Given the description of an element on the screen output the (x, y) to click on. 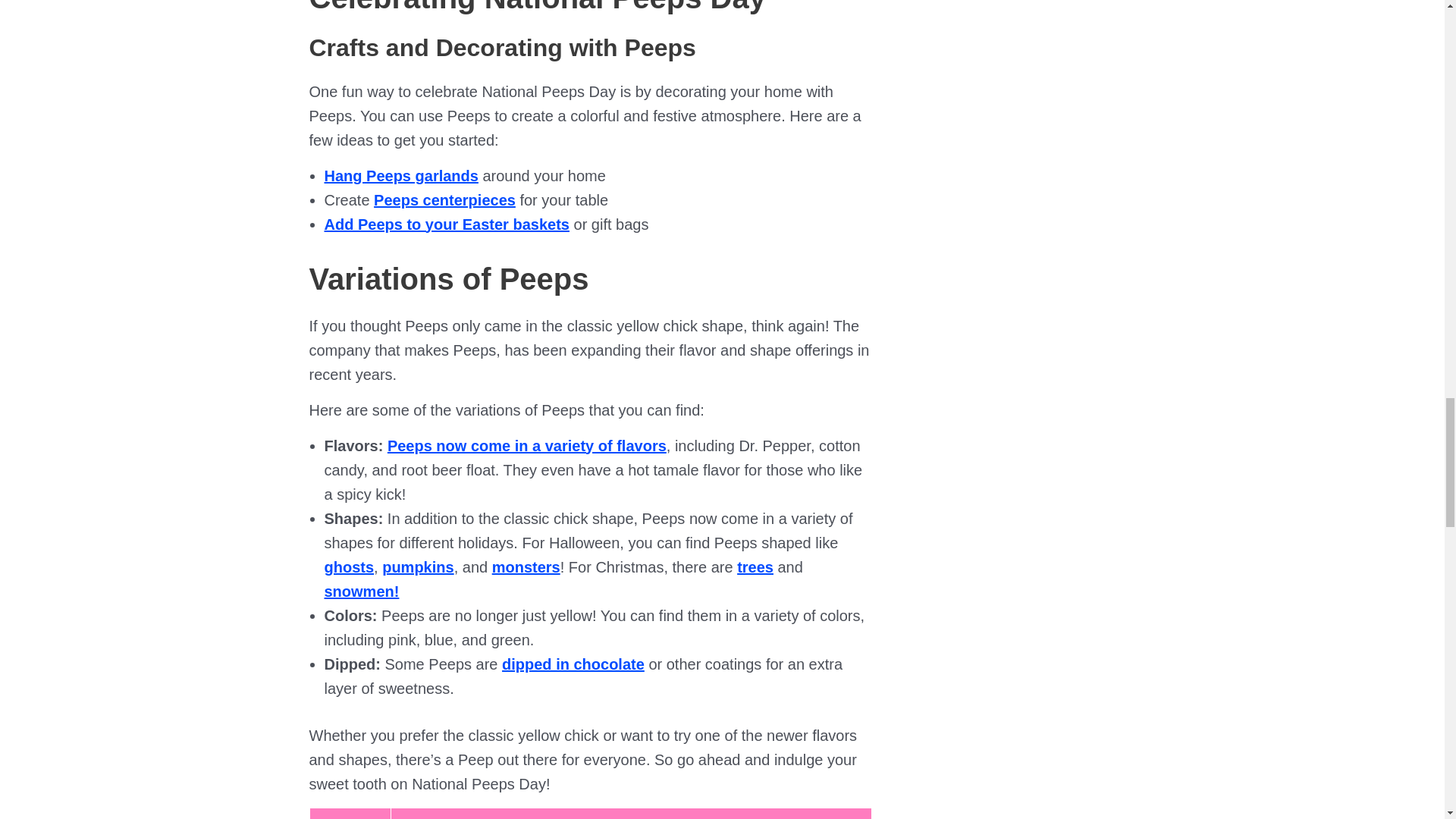
Add Peeps to your Easter baskets (446, 224)
dipped in chocolate (573, 664)
monsters (526, 566)
ghosts (349, 566)
snowmen! (361, 591)
Peeps centerpieces (444, 199)
pumpkins (416, 566)
Hang Peeps garlands (401, 175)
Peeps now come in a variety of flavors (526, 445)
trees (754, 566)
